Given the description of an element on the screen output the (x, y) to click on. 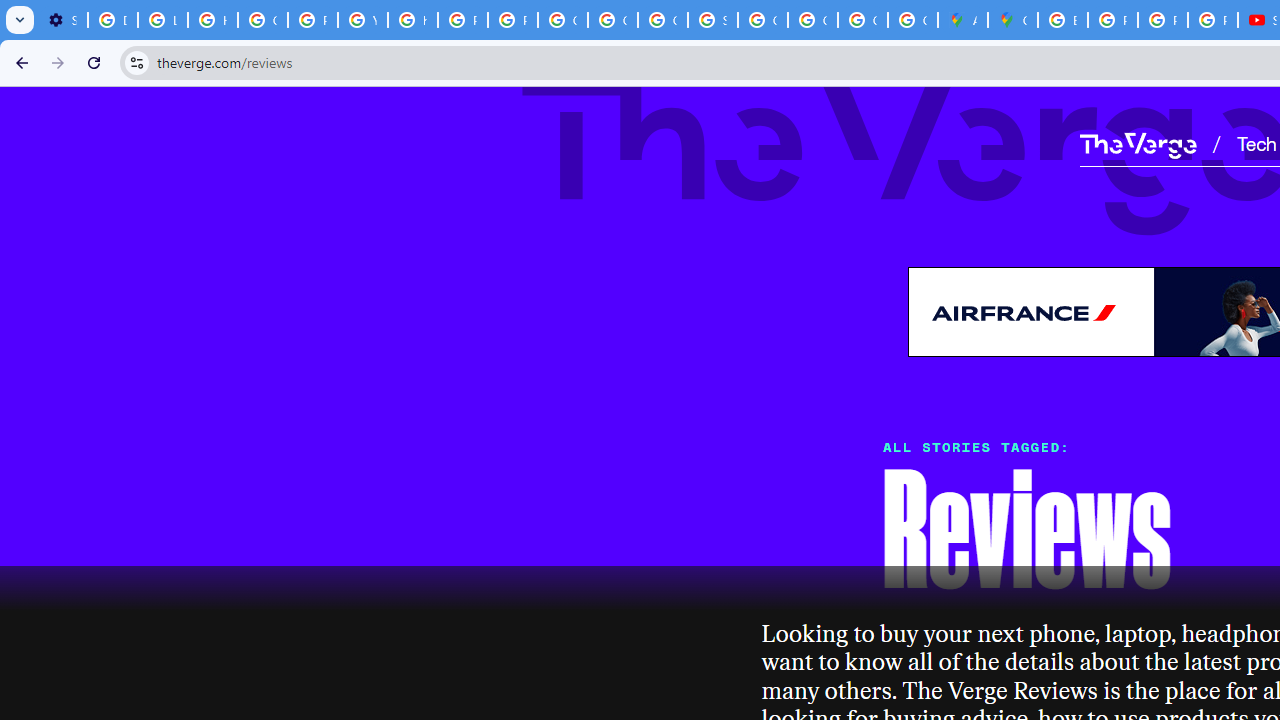
Blogger Policies and Guidelines - Transparency Center (1062, 20)
Privacy Help Center - Policies Help (1112, 20)
Privacy Help Center - Policies Help (462, 20)
Google Maps (1013, 20)
YouTube (362, 20)
Privacy Help Center - Policies Help (312, 20)
Sign in - Google Accounts (712, 20)
